Given the description of an element on the screen output the (x, y) to click on. 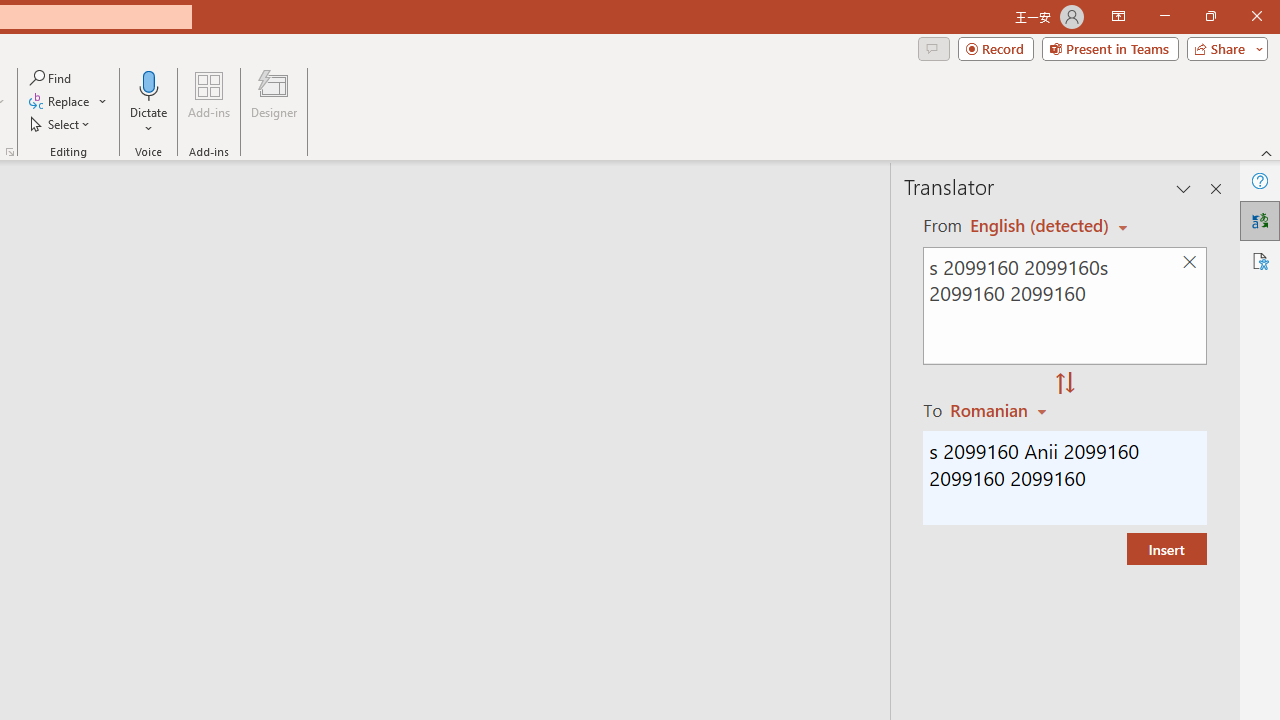
Czech (detected) (1039, 225)
